Given the description of an element on the screen output the (x, y) to click on. 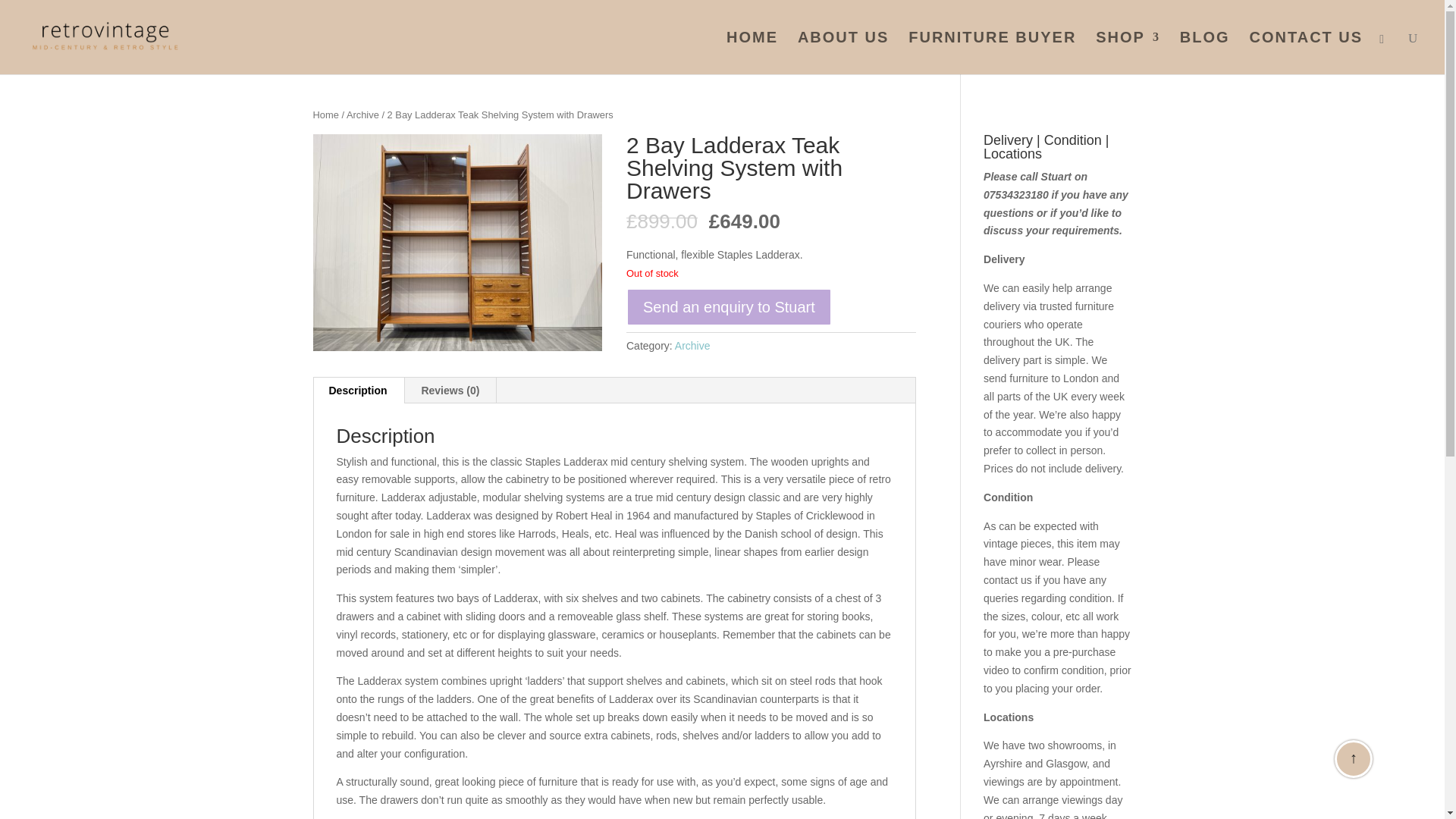
Archive (362, 114)
FURNITURE BUYER (991, 52)
SHOP (1128, 52)
Home (325, 114)
Send an enquiry to Stuart (728, 306)
Archive (692, 345)
BLOG (1204, 52)
CONTACT US (1305, 52)
mid century ladderax teak shelving (457, 243)
HOME (751, 52)
ABOUT US (842, 52)
Description (358, 390)
